Given the description of an element on the screen output the (x, y) to click on. 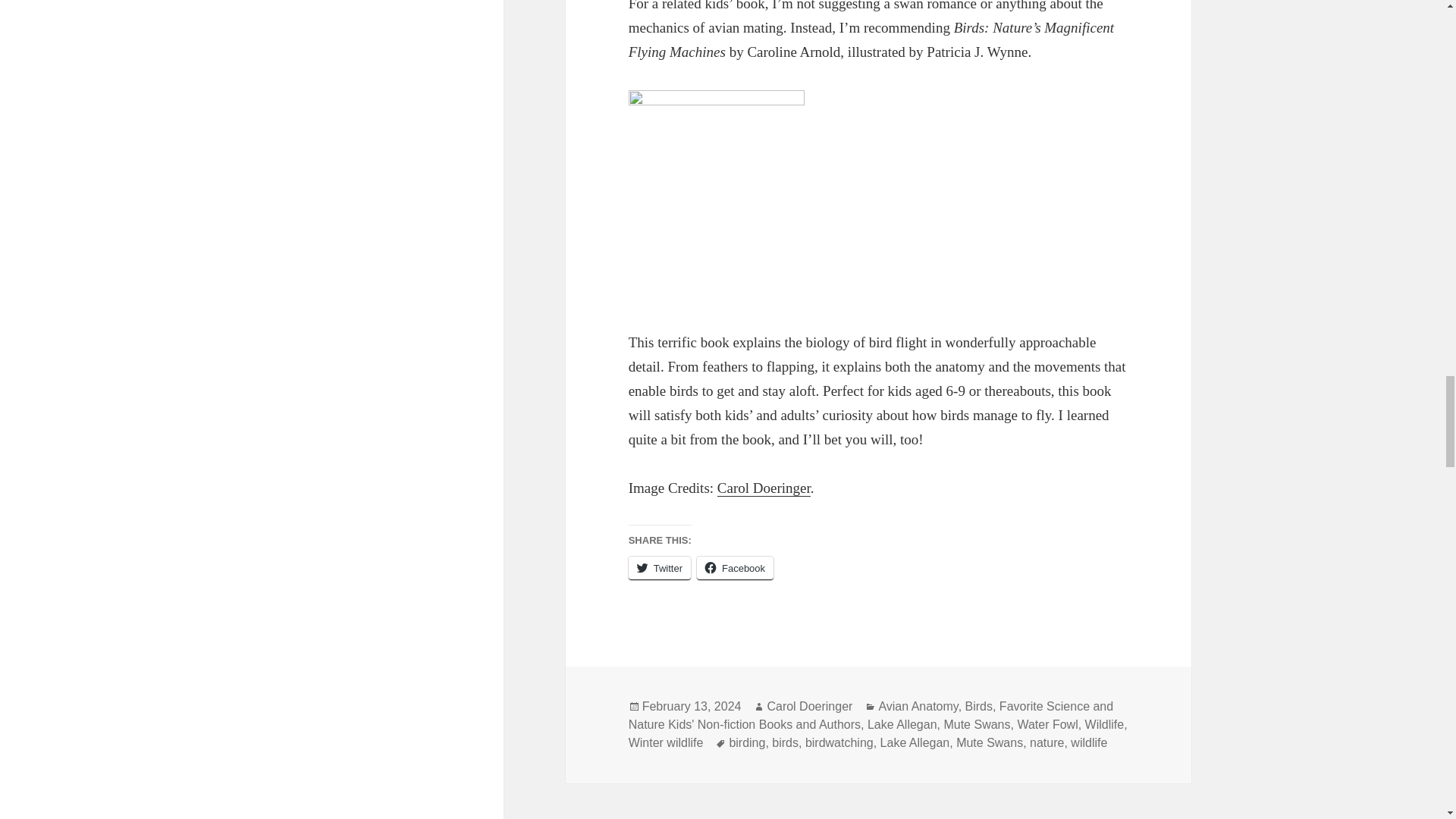
Click to share on Facebook (735, 567)
February 13, 2024 (691, 706)
Avian Anatomy (917, 706)
Twitter (659, 567)
Carol Doeringer (809, 706)
Carol Doeringer (763, 487)
Facebook (735, 567)
Click to share on Twitter (659, 567)
